Given the description of an element on the screen output the (x, y) to click on. 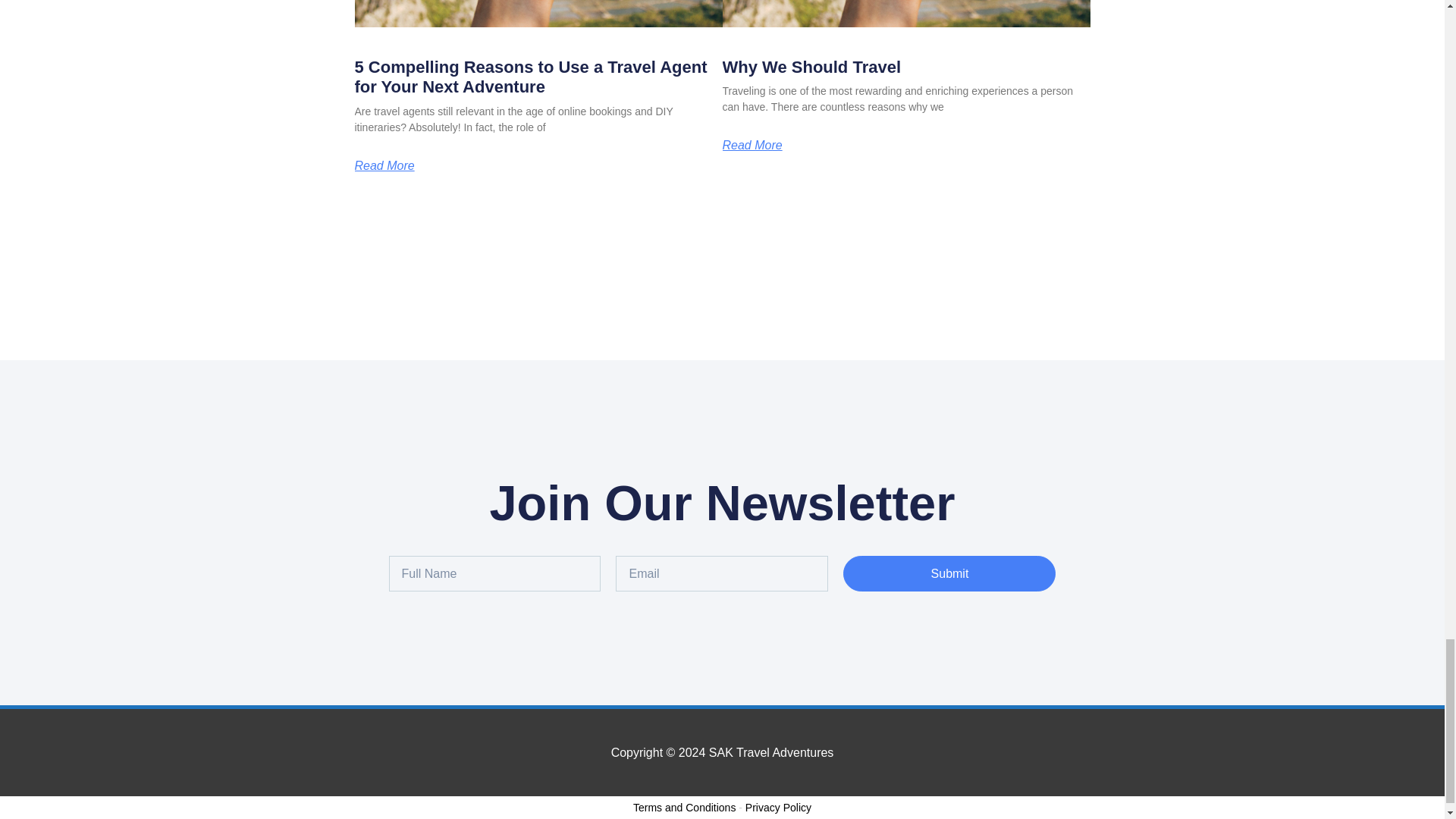
Why We Should Travel (811, 66)
Submit (949, 573)
Read More (751, 145)
Terms and Conditions (684, 807)
Read More (384, 165)
Privacy Policy (777, 807)
